Given the description of an element on the screen output the (x, y) to click on. 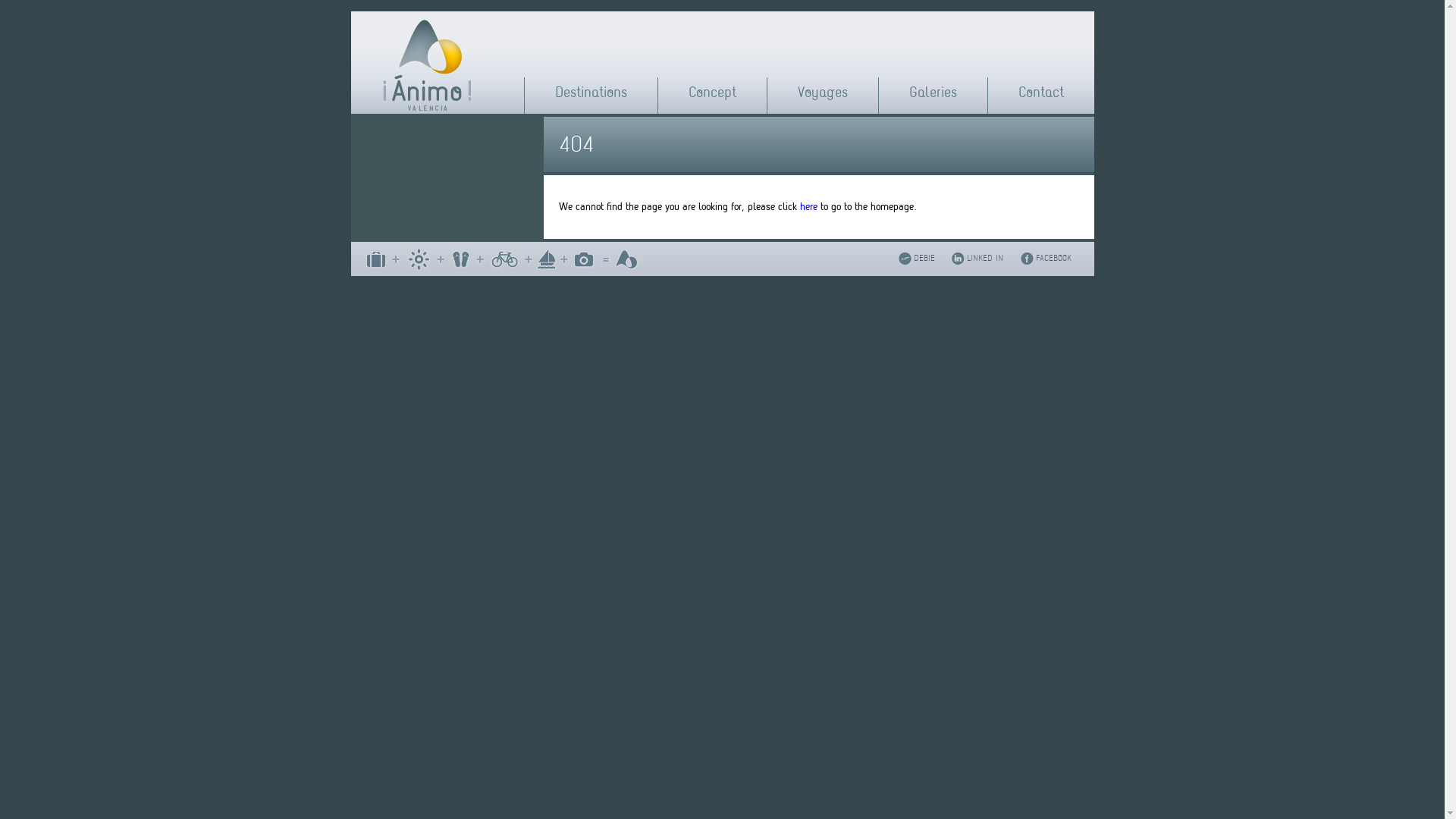
FACEBOOK Element type: text (1057, 255)
Contact Element type: text (1040, 91)
LINKED IN Element type: text (987, 255)
Galeries Element type: text (932, 91)
here Element type: text (807, 206)
Voyages Element type: text (822, 91)
DEBIE Element type: text (927, 255)
Concept Element type: text (712, 91)
